Given the description of an element on the screen output the (x, y) to click on. 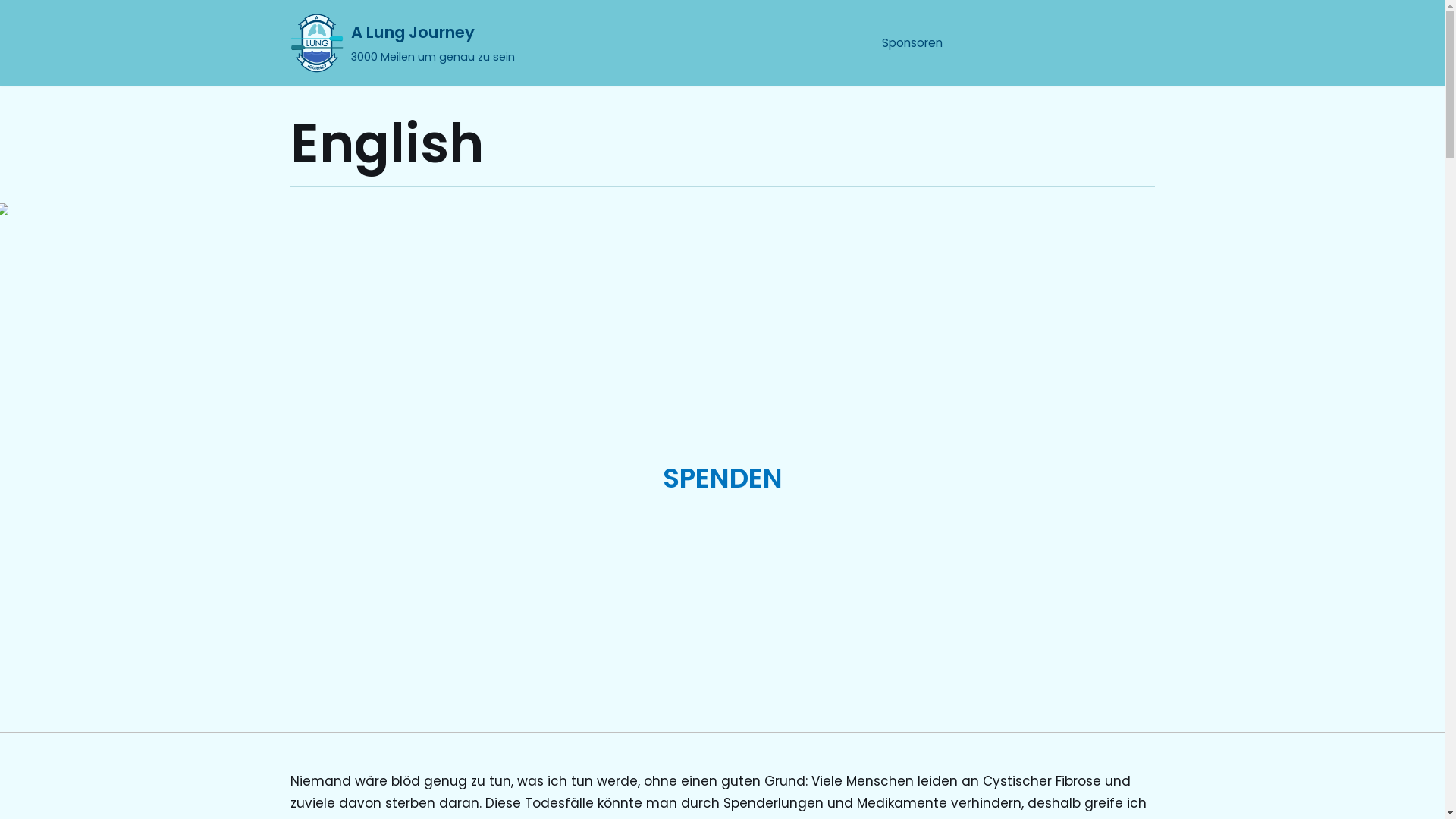
A Lung Journey
3000 Meilen um genau zu sein Element type: text (401, 42)
SPENDEN Element type: text (721, 477)
Zum Inhalt Element type: text (15, 7)
Sponsoren Element type: text (911, 43)
